Given the description of an element on the screen output the (x, y) to click on. 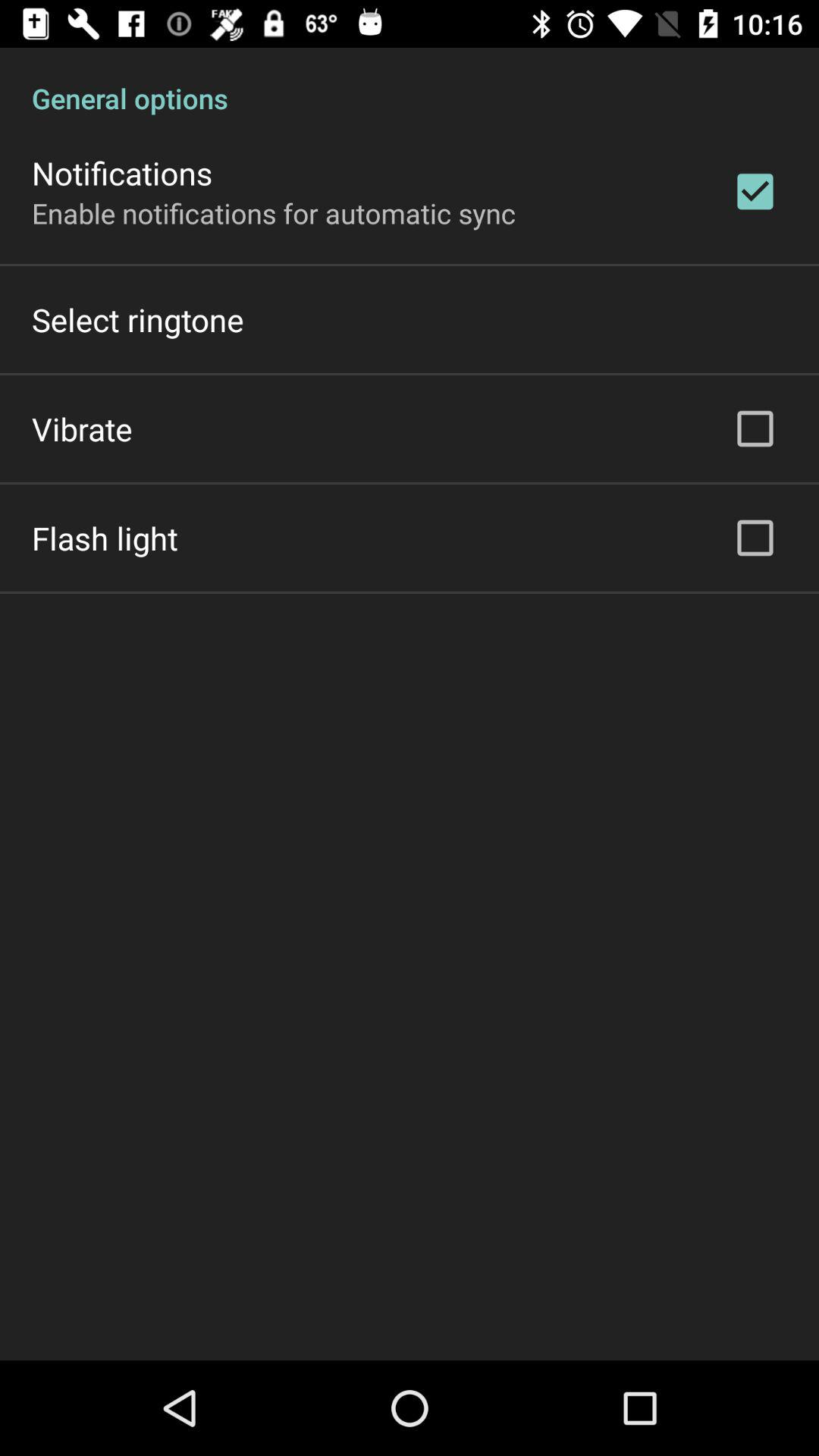
turn on the item below the enable notifications for item (137, 319)
